Given the description of an element on the screen output the (x, y) to click on. 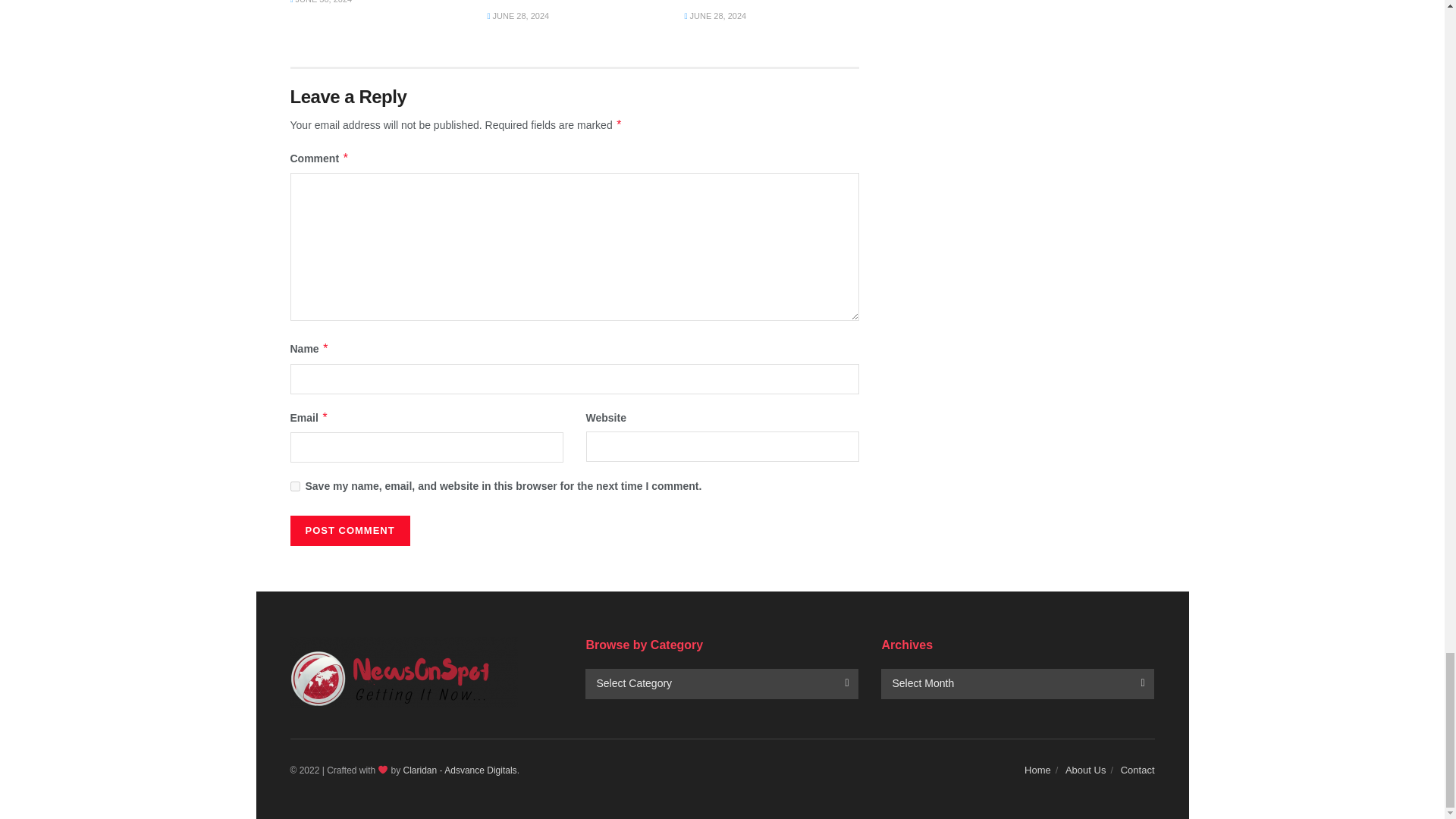
Post Comment (349, 530)
Digital Marketing Agency in Nigeria (480, 769)
yes (294, 486)
Information and Entertainment Blog (420, 769)
